Given the description of an element on the screen output the (x, y) to click on. 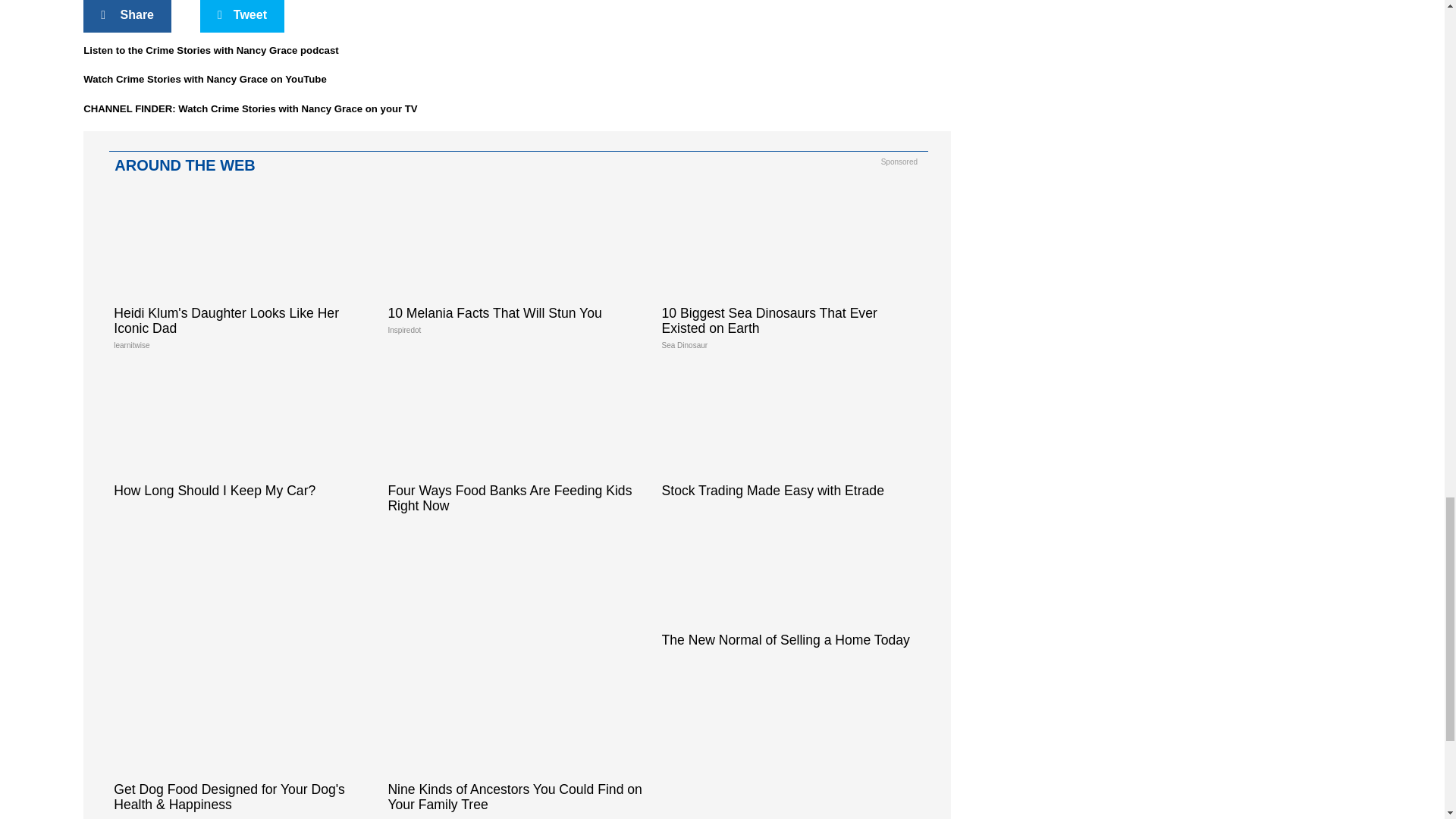
Four Ways Food Banks Are Feeding Kids Right Now (515, 446)
Listen to the Crime Stories with Nancy Grace podcast (209, 50)
10 Melania Facts That Will Stun You (515, 267)
Stock Trading Made Easy with Etrade (791, 438)
How Long Should I Keep My Car? (242, 438)
Share (126, 16)
The New Normal of Selling a Home Today (791, 587)
Nine Kinds of Ancestors You Could Find on Your Family Tree (515, 742)
10 Biggest Sea Dinosaurs That Ever Existed on Earth (791, 275)
Tweet (241, 16)
